Given the description of an element on the screen output the (x, y) to click on. 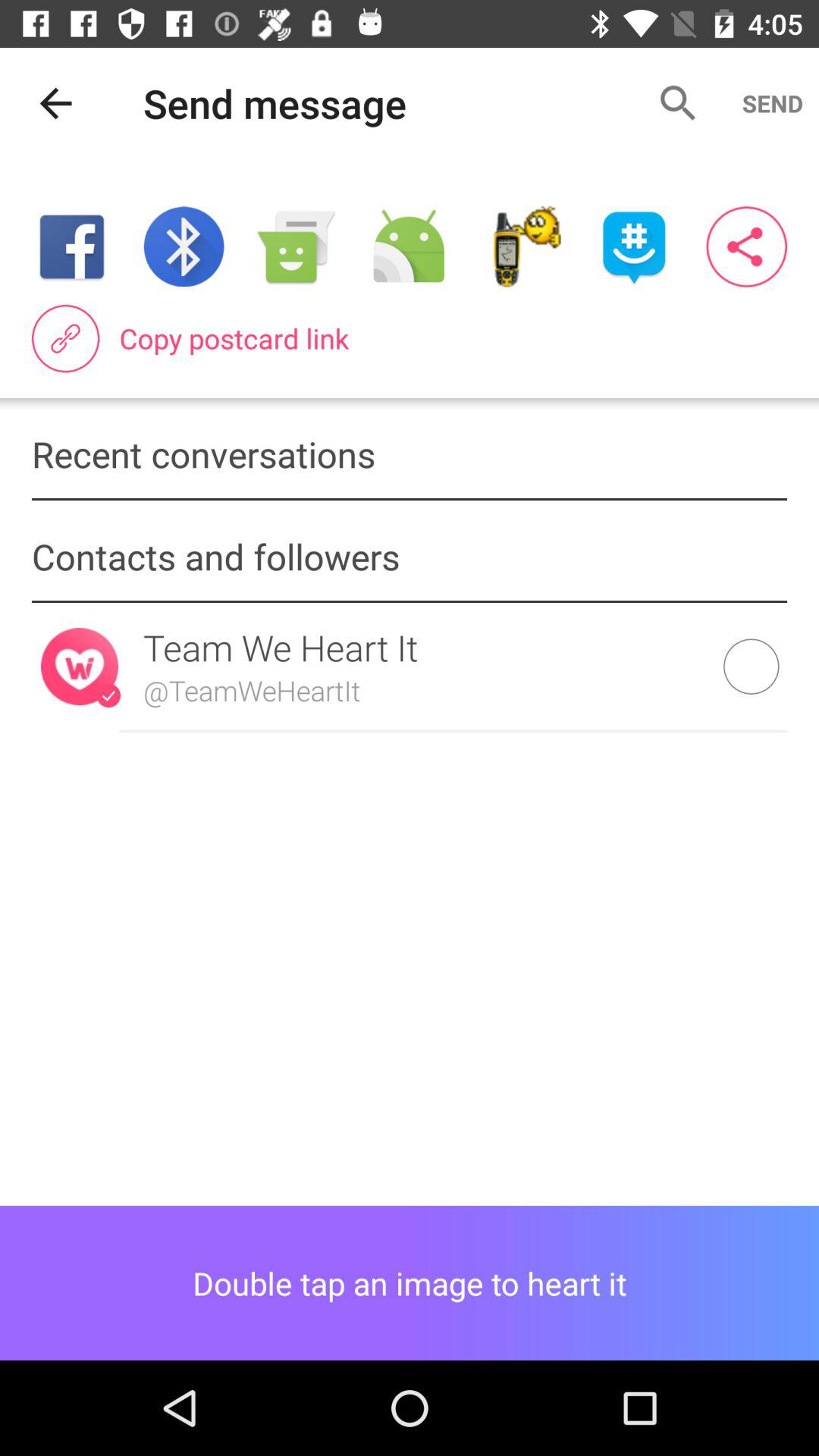
press the item above copy postcard link icon (521, 246)
